Given the description of an element on the screen output the (x, y) to click on. 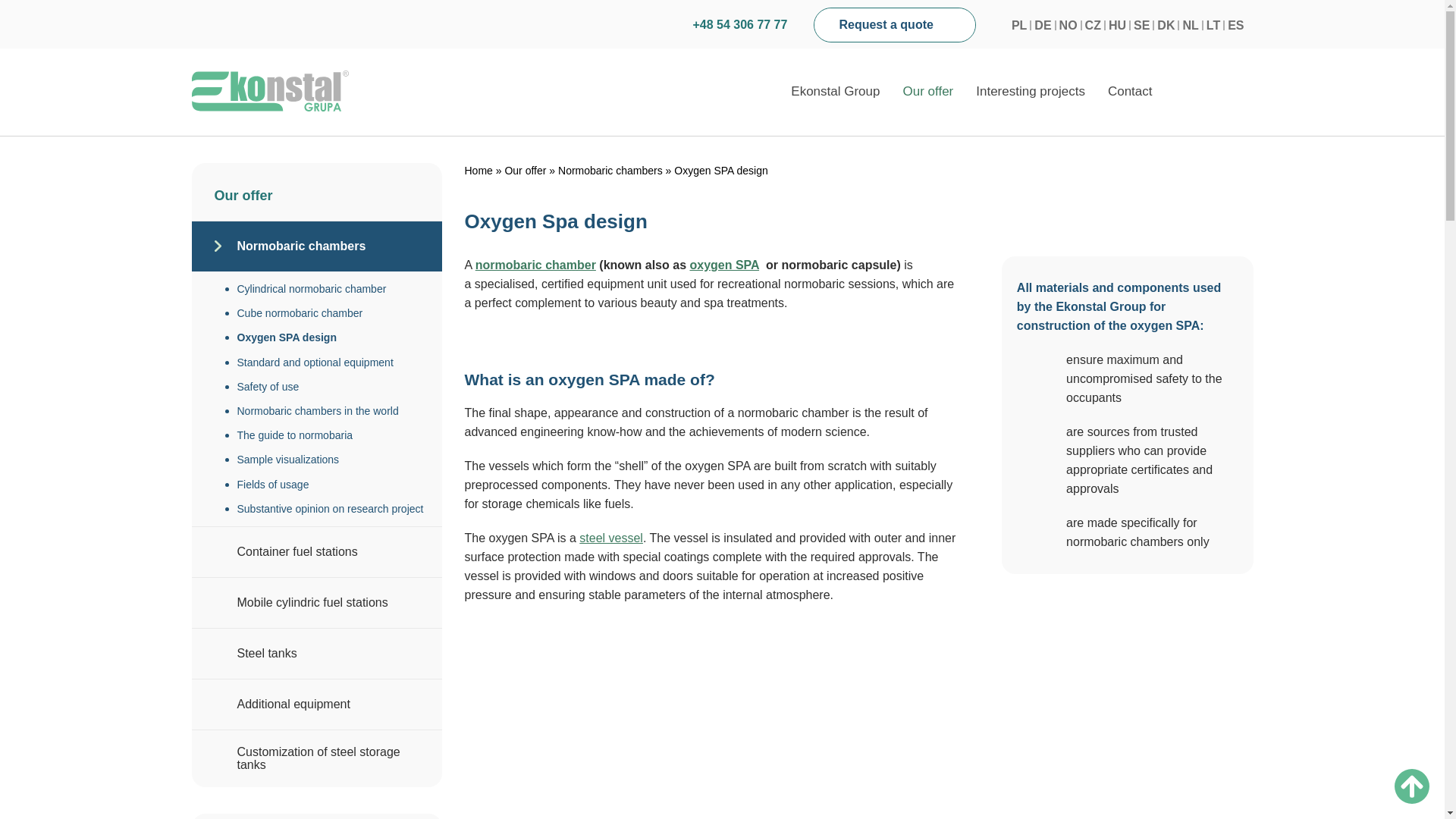
SE (1142, 25)
European Union website (1219, 91)
CZ (1092, 25)
Cube normobaric chamber (338, 313)
PL (1019, 25)
Contact (1129, 91)
ES (1235, 25)
Cylindrical normobaric chamber (338, 288)
DK (1165, 25)
Request a quote (894, 24)
Normobaric chambers (535, 264)
Steel tanks (611, 537)
Back to top (1411, 786)
DE (1042, 25)
Interesting projects (1029, 91)
